Given the description of an element on the screen output the (x, y) to click on. 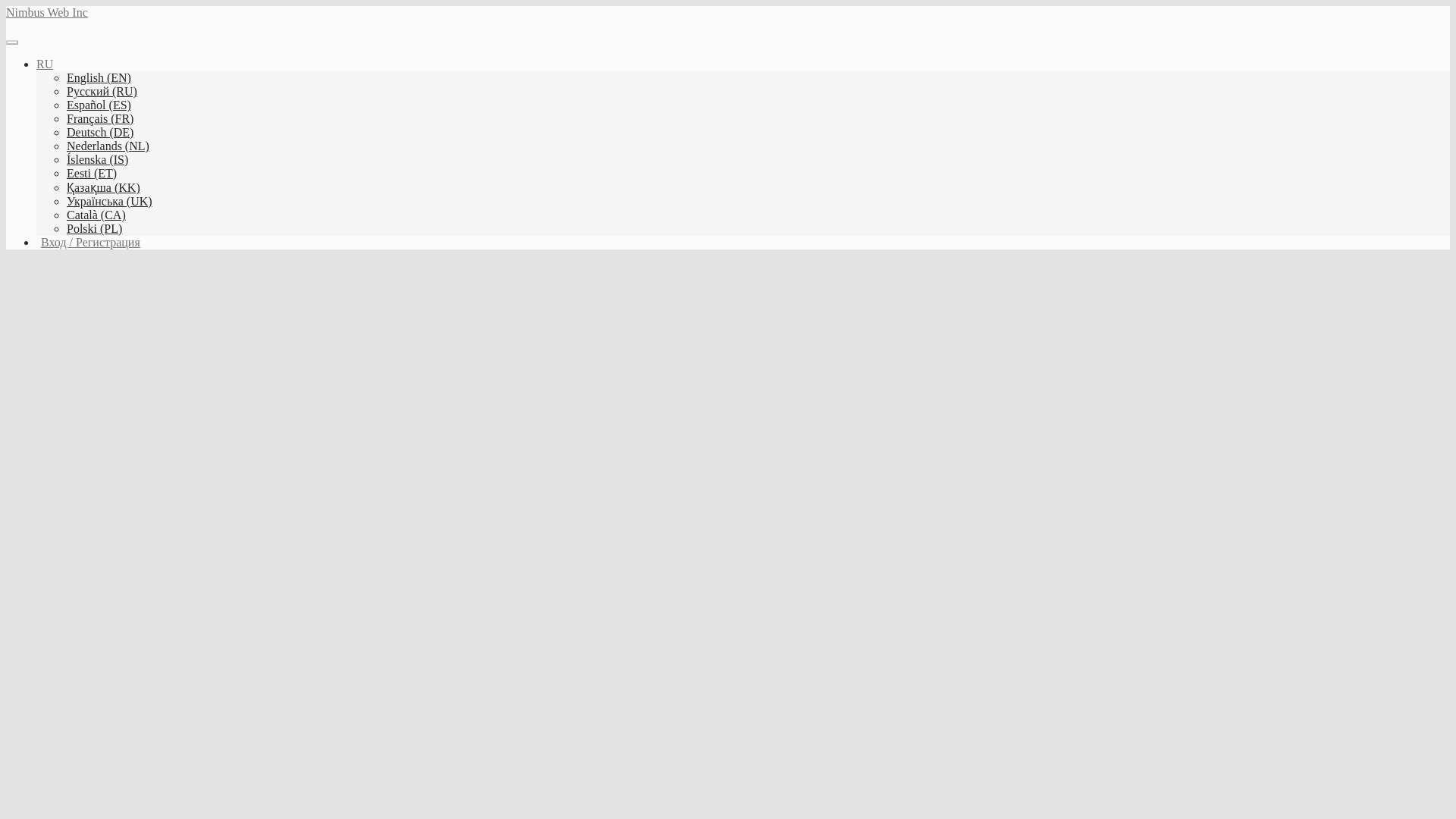
Nimbus Web Inc (46, 11)
RU (44, 63)
